Given the description of an element on the screen output the (x, y) to click on. 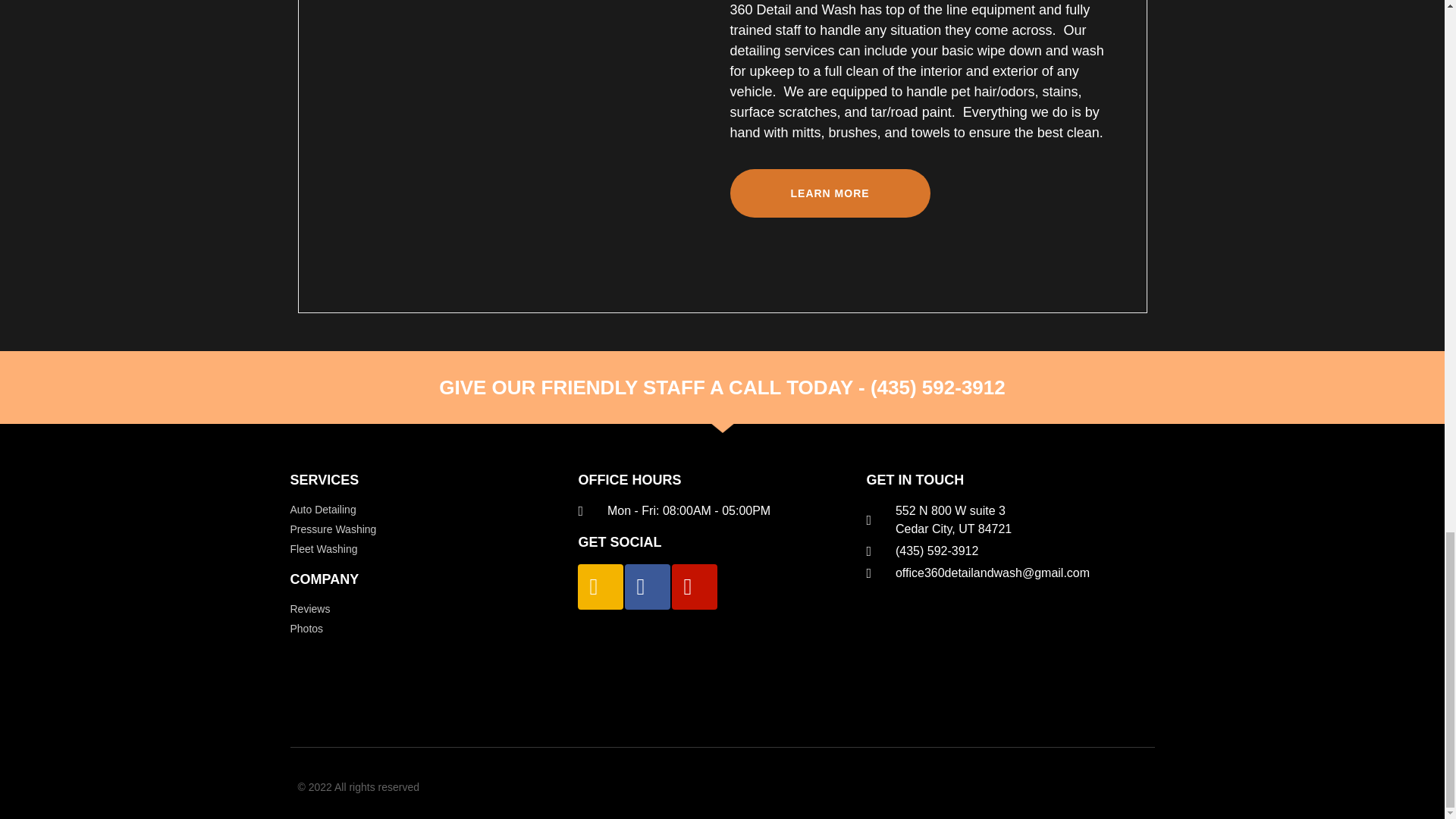
Home (517, 144)
LEARN MORE (829, 192)
Auto Detailing (433, 509)
